Given the description of an element on the screen output the (x, y) to click on. 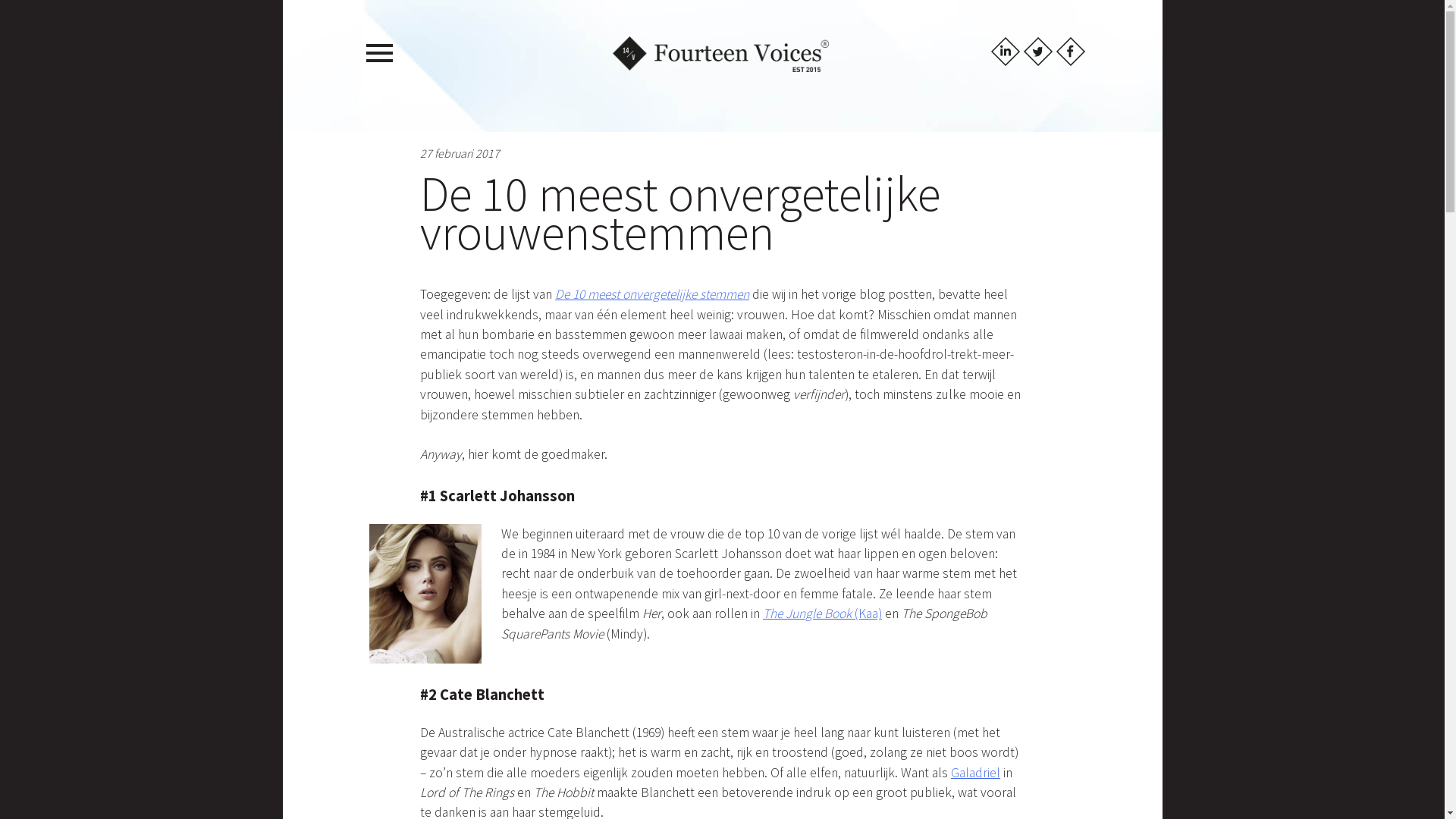
Galadriel Element type: text (975, 772)
The Jungle Book (Kaa) Element type: text (821, 613)
De 10 meest onvergetelijke stemmen Element type: text (652, 293)
toggle menu Element type: text (375, 49)
